Given the description of an element on the screen output the (x, y) to click on. 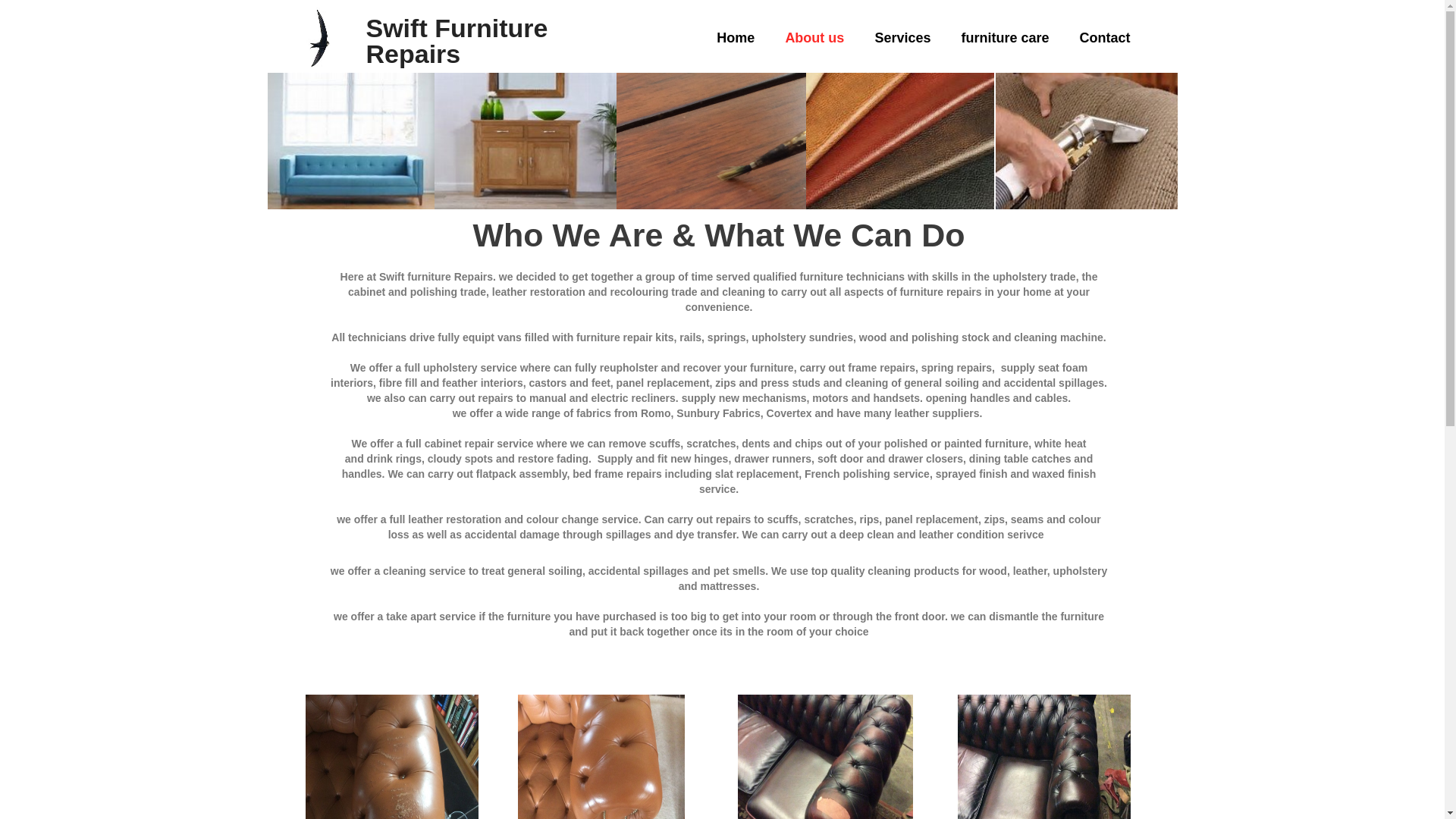
Home (735, 37)
furniture care (1005, 37)
About us (814, 37)
Services (901, 37)
Contact (1104, 37)
